Given the description of an element on the screen output the (x, y) to click on. 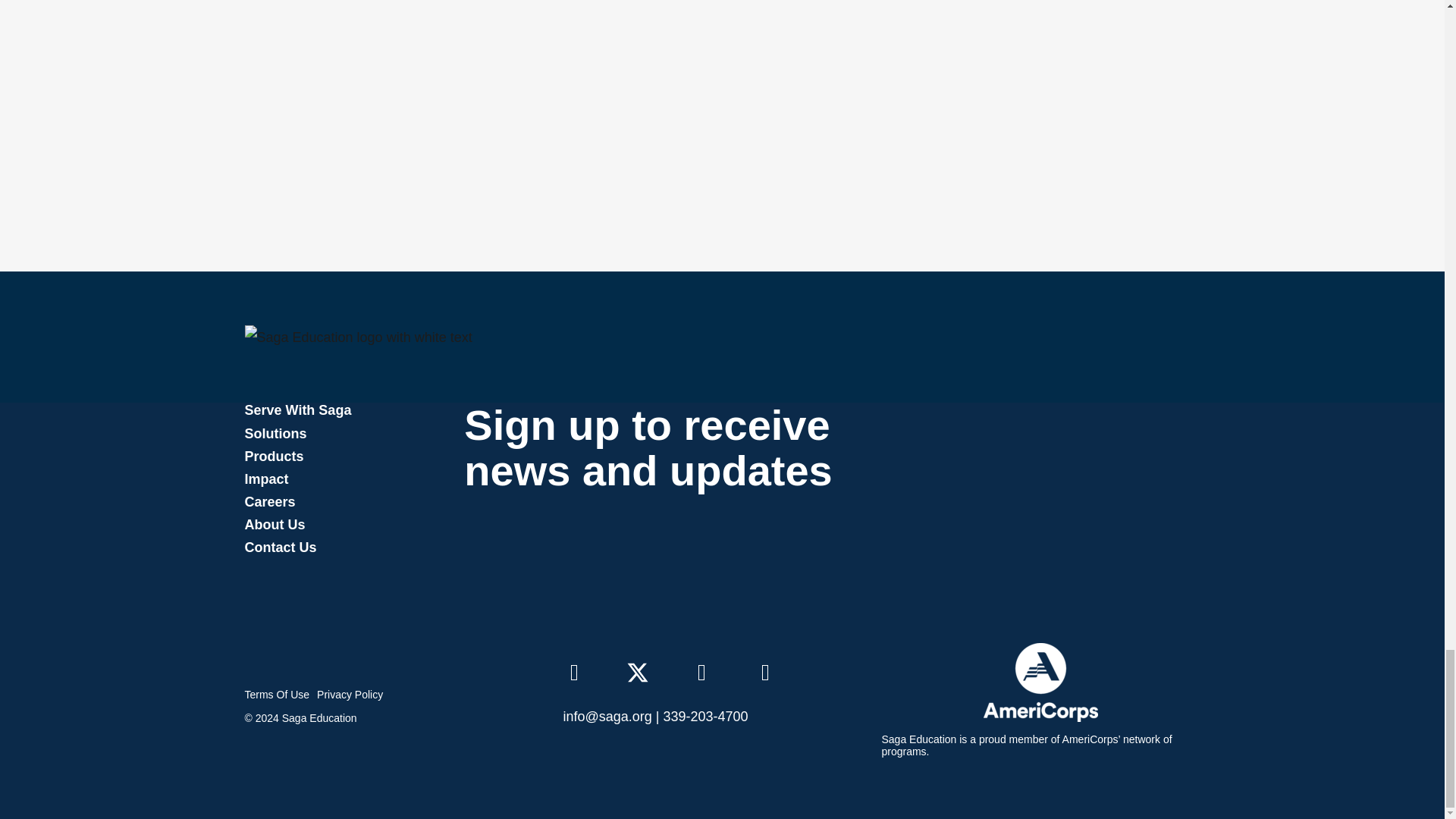
saga-logo-footer (357, 337)
